Given the description of an element on the screen output the (x, y) to click on. 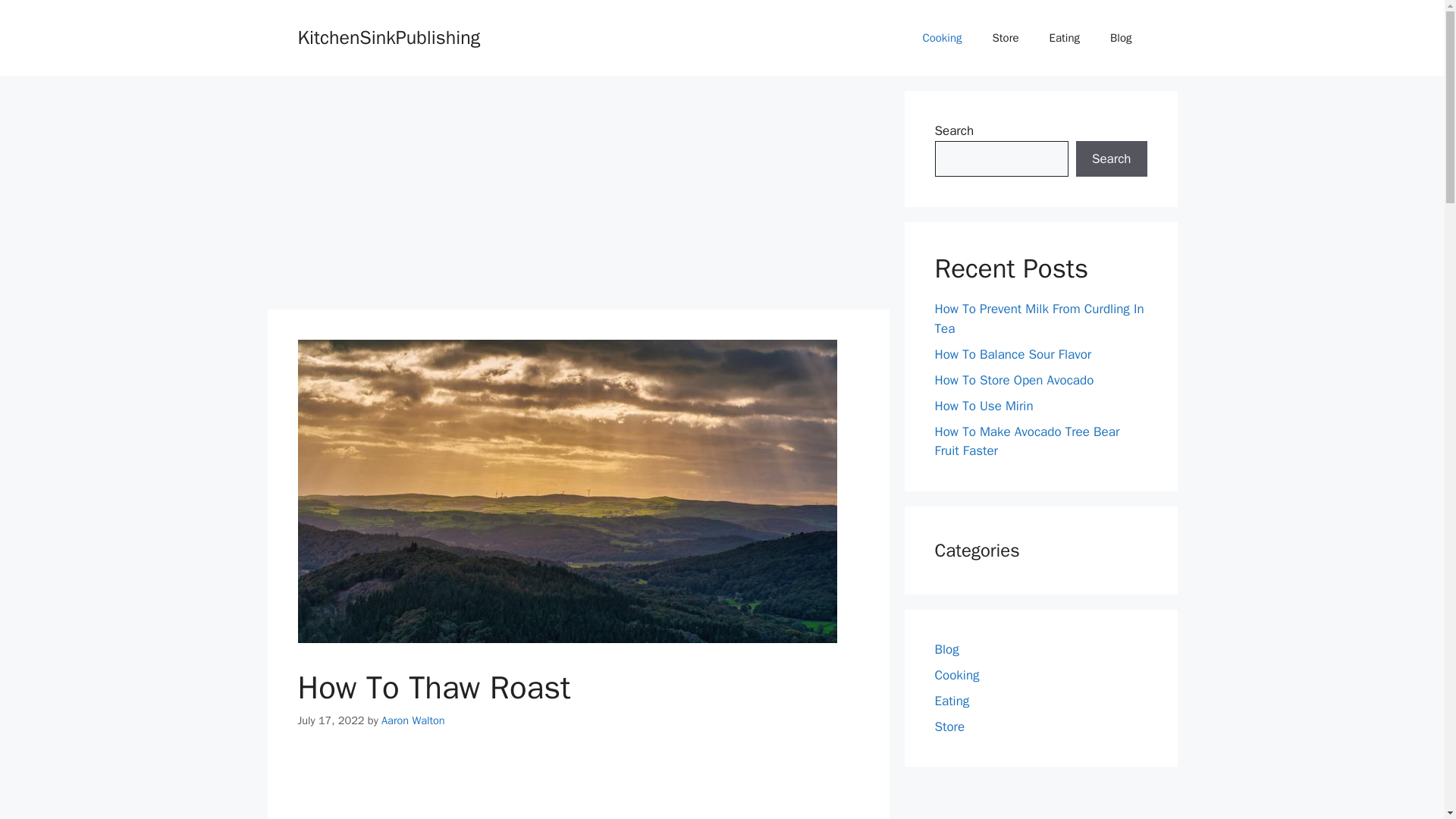
KitchenSinkPublishing (388, 37)
How To Use Mirin (983, 405)
How To Balance Sour Flavor (1012, 353)
How To Make Avocado Tree Bear Fruit Faster (1026, 440)
Blog (1120, 37)
Store (948, 726)
Blog (946, 649)
How To Store Open Avocado (1013, 379)
Store (1004, 37)
Advertisement (577, 196)
